Given the description of an element on the screen output the (x, y) to click on. 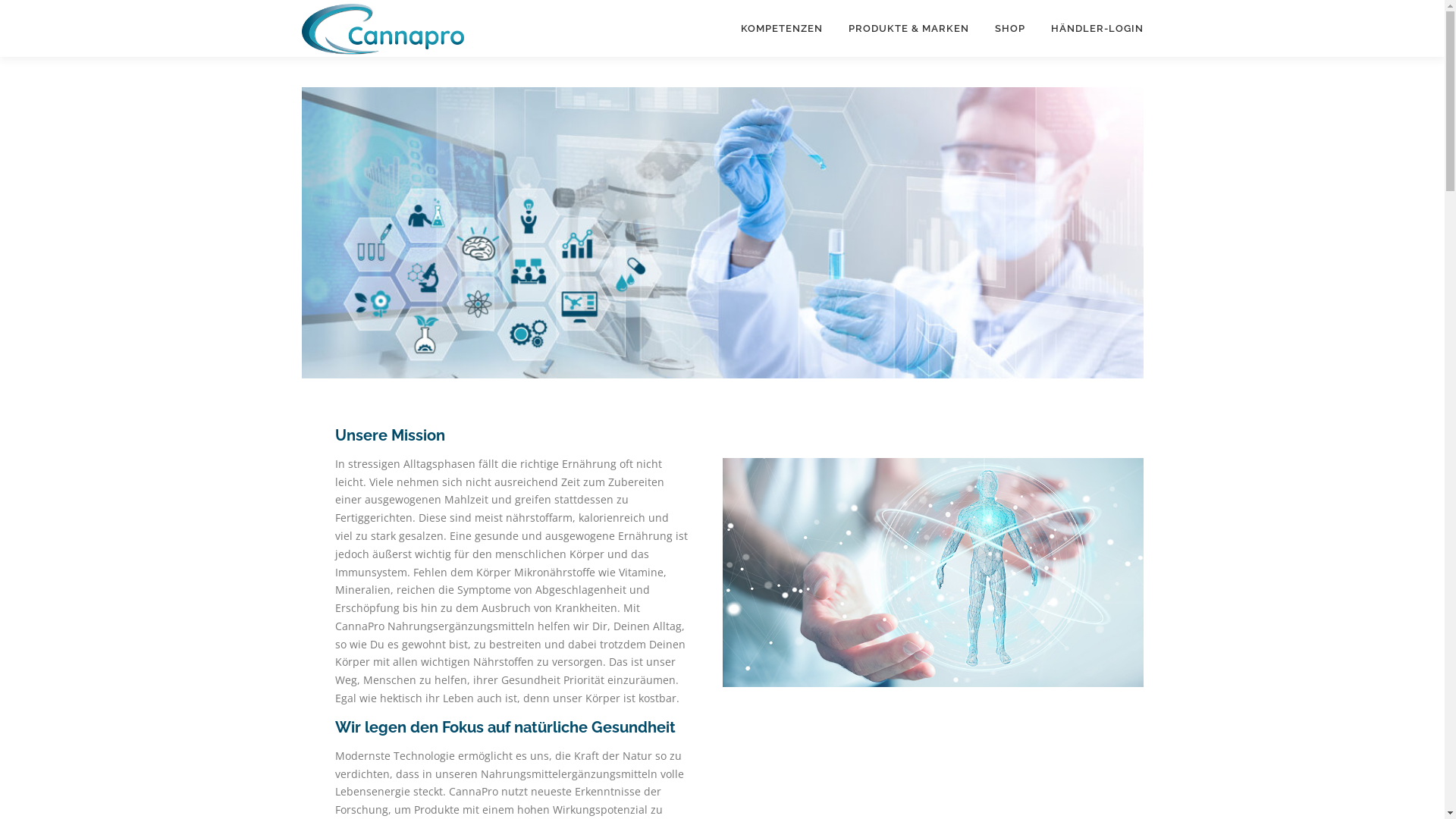
PRODUKTE & MARKEN Element type: text (908, 28)
KOMPETENZEN Element type: text (781, 28)
SHOP Element type: text (1009, 28)
